Given the description of an element on the screen output the (x, y) to click on. 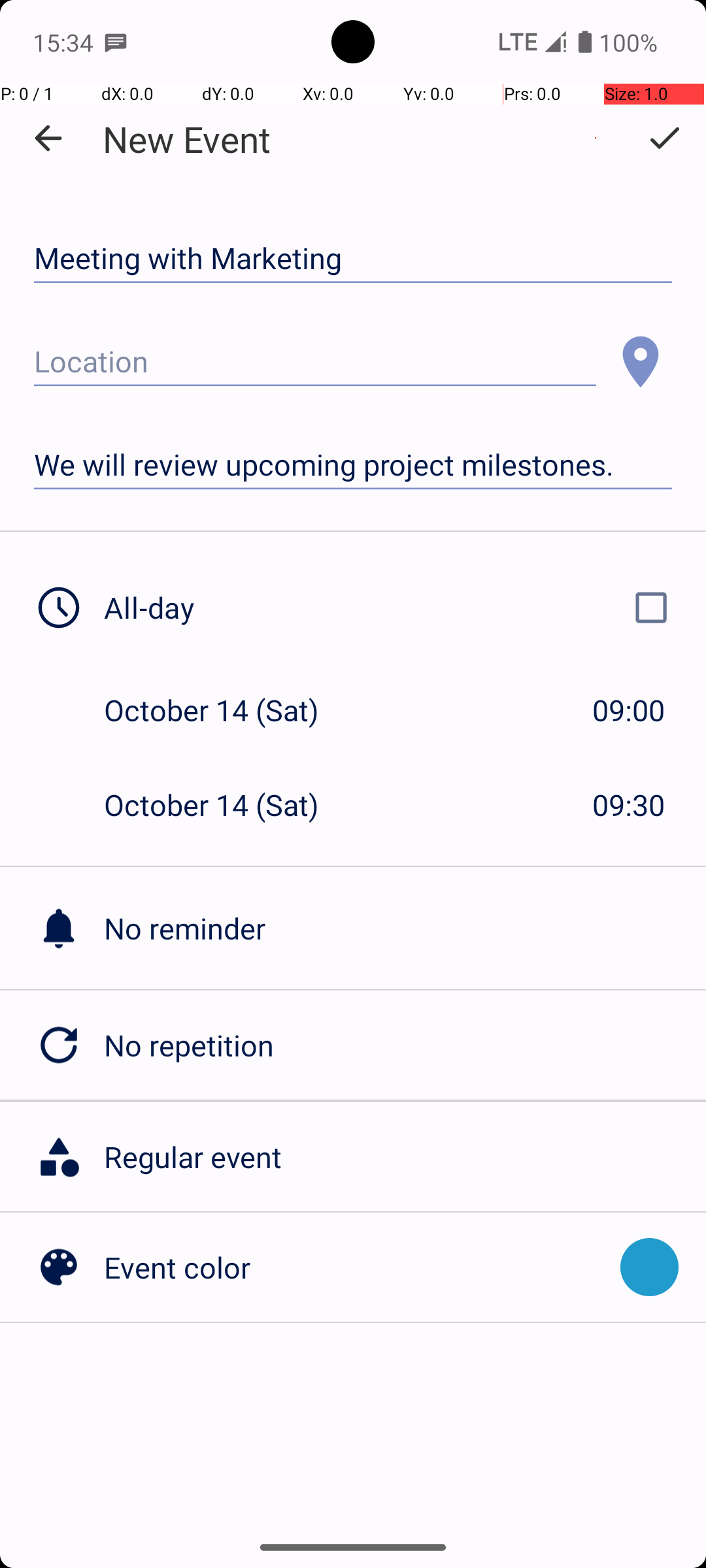
We will review upcoming project milestones. Element type: android.widget.EditText (352, 465)
October 14 (Sat) Element type: android.widget.TextView (224, 709)
09:30 Element type: android.widget.TextView (628, 804)
